Given the description of an element on the screen output the (x, y) to click on. 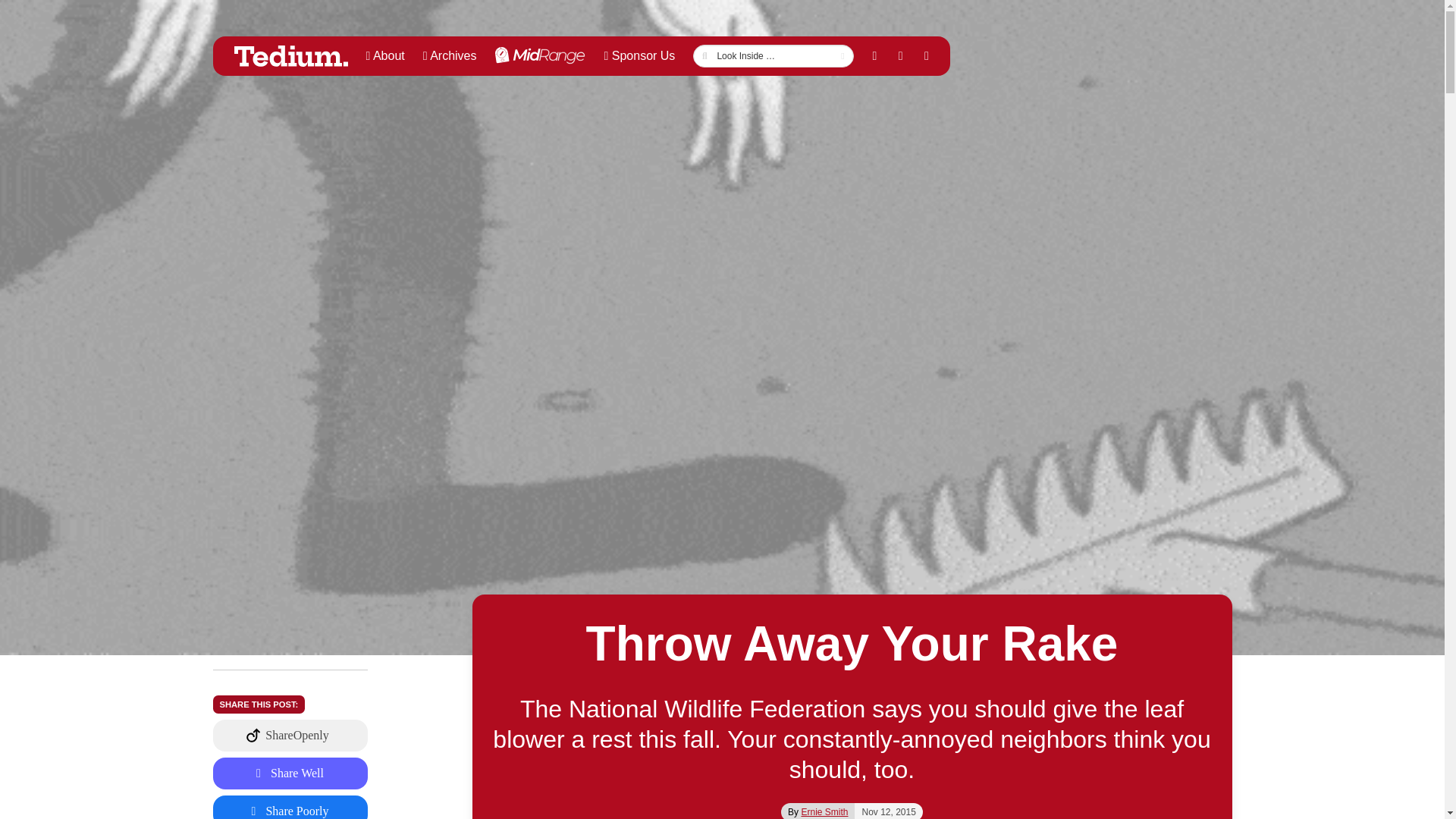
 Sponsor Us (639, 56)
.is-mastodon (289, 773)
 About (384, 56)
 Archives (449, 56)
ShareOpenly (289, 735)
.is-mastodon (289, 735)
.is-facebook (289, 807)
Share Poorly (289, 807)
Ernie Smith (823, 811)
Share Well (289, 773)
